Given the description of an element on the screen output the (x, y) to click on. 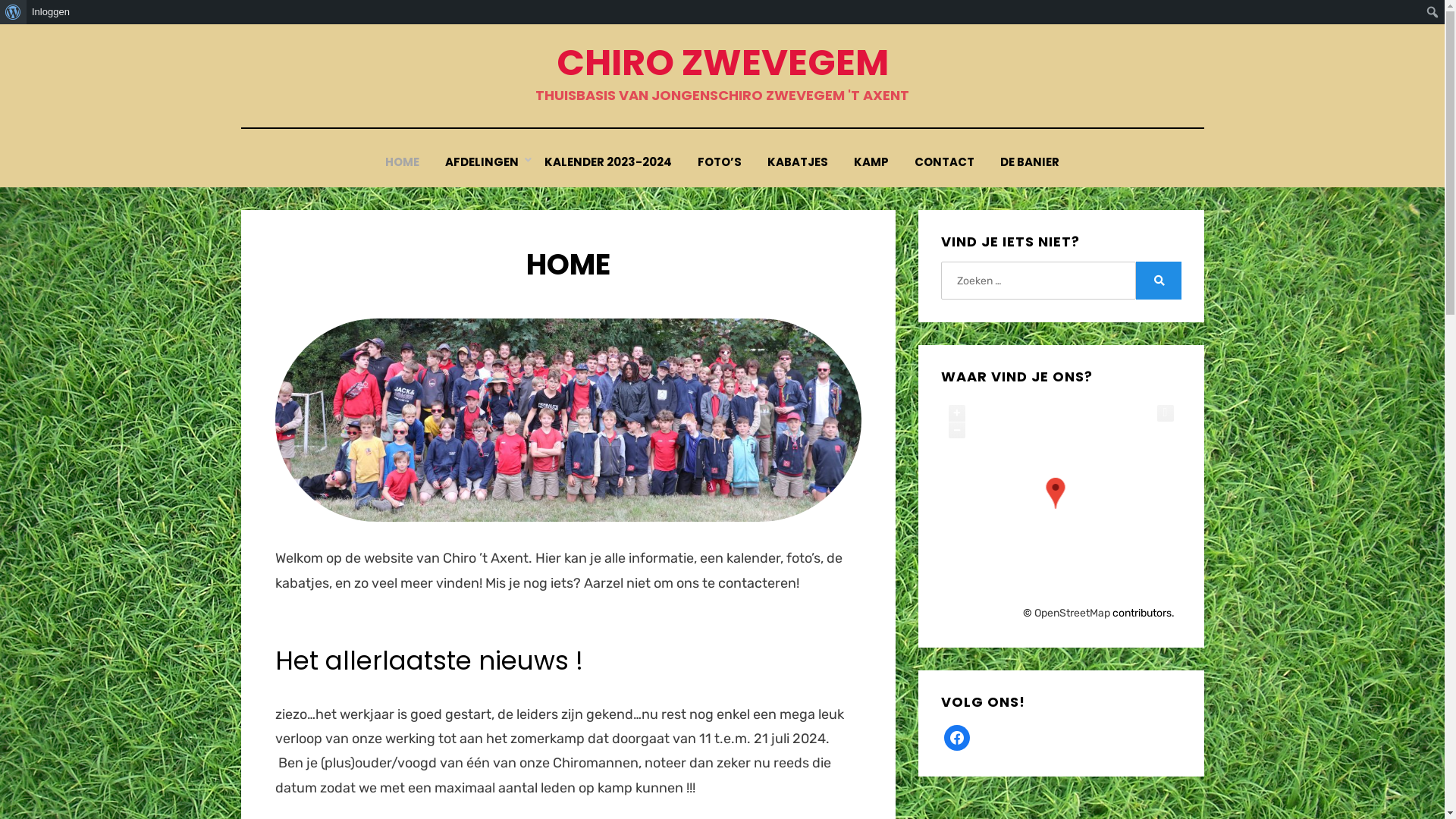
KABATJES Element type: text (797, 161)
Zoeken Element type: text (1158, 280)
Zoeken Element type: text (12, 12)
KAMP Element type: text (870, 161)
CHIRO ZWEVEGEM Element type: text (722, 62)
KALENDER 2023-2024 Element type: text (607, 161)
+ Element type: text (956, 412)
Zoeken naar: Element type: hover (1038, 280)
CONTACT Element type: text (944, 161)
OpenStreetMap Element type: text (1072, 612)
DE BANIER Element type: text (1029, 161)
AFDELINGEN Element type: text (481, 161)
HOME Element type: text (402, 161)
Inloggen Element type: text (50, 12)
facebook Element type: text (956, 737)
